Given the description of an element on the screen output the (x, y) to click on. 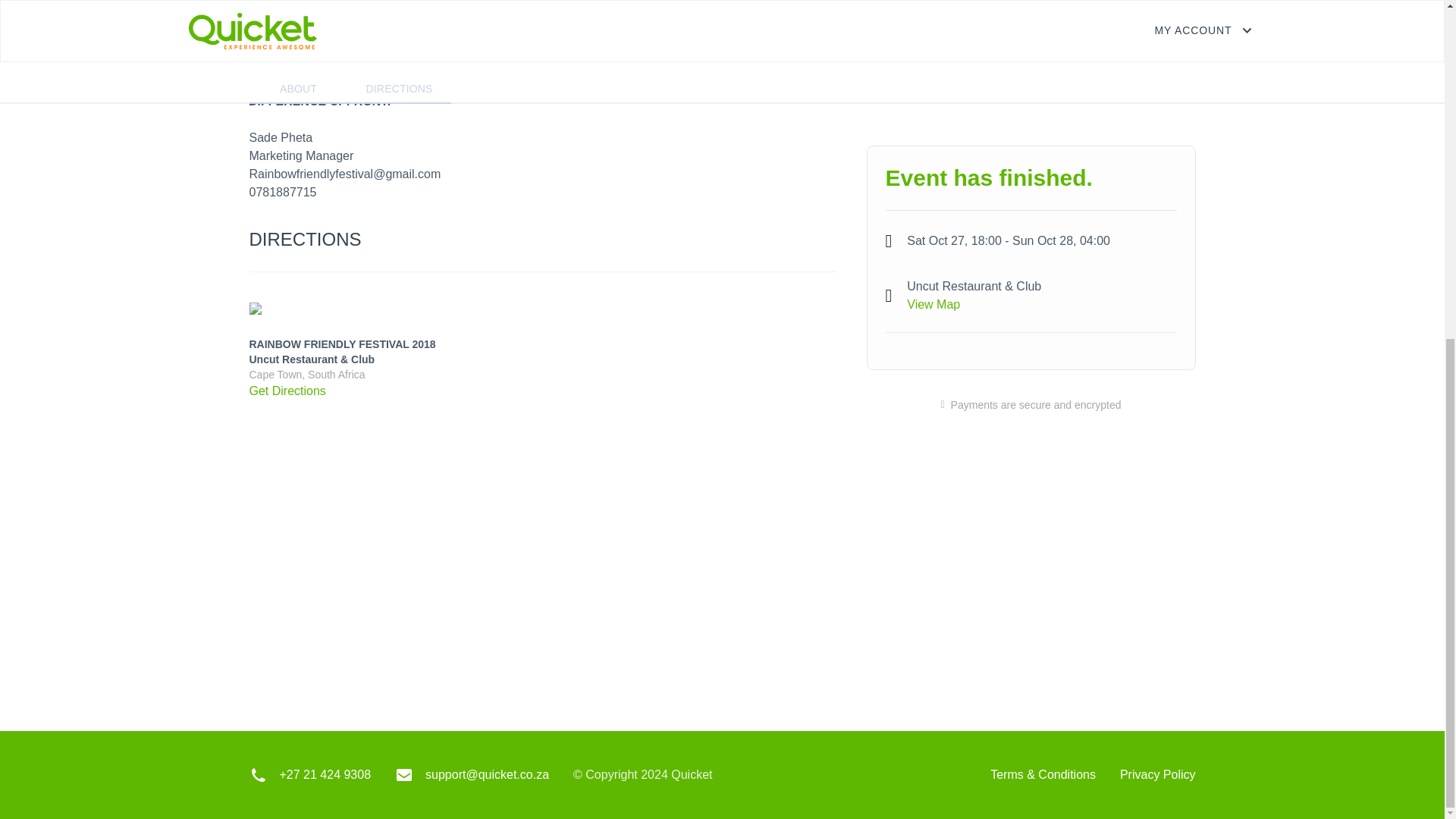
Privacy Policy (1157, 774)
Get Directions (286, 390)
0781887715 (281, 192)
